Given the description of an element on the screen output the (x, y) to click on. 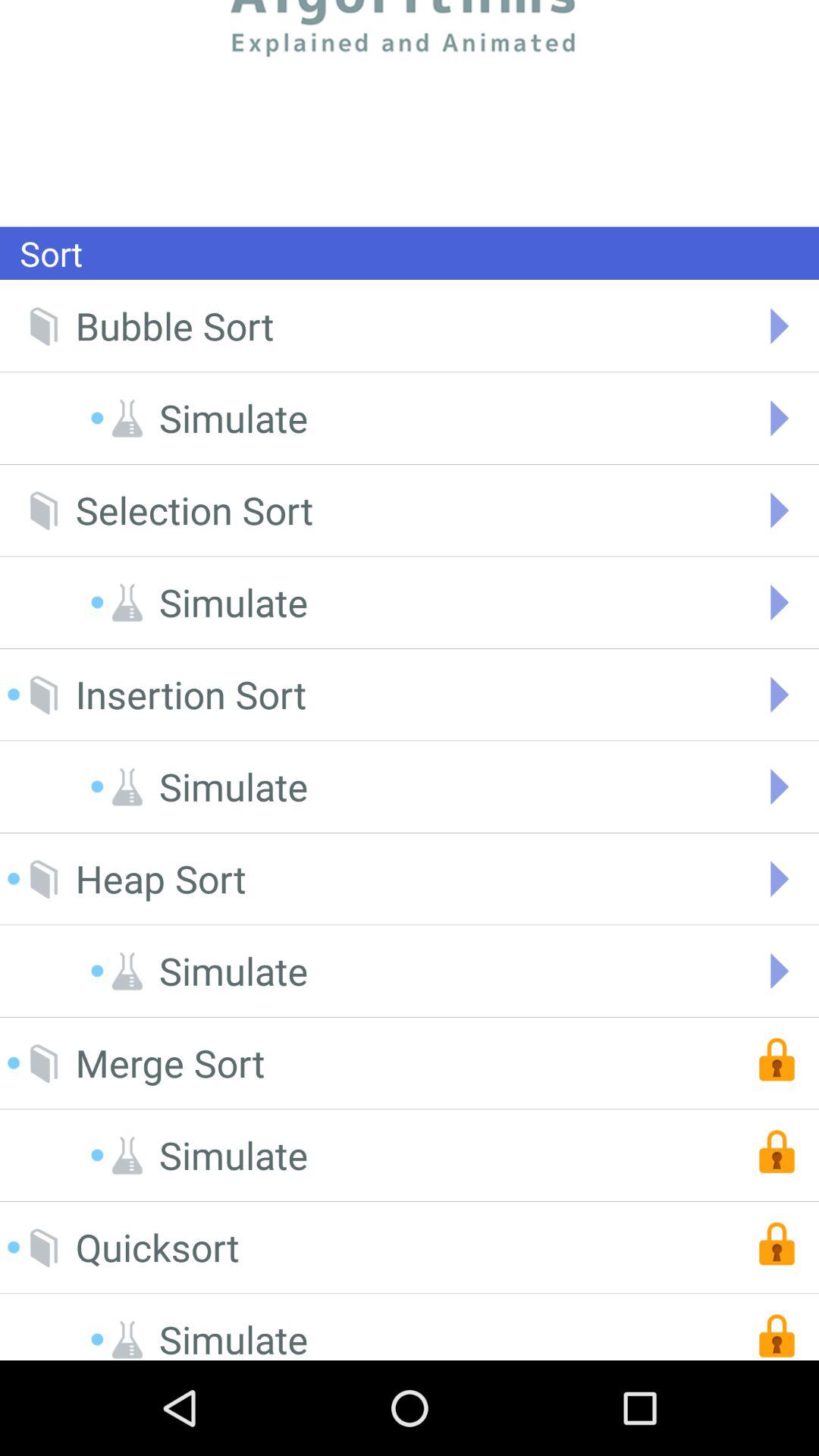
turn on item below simulate (170, 1063)
